Given the description of an element on the screen output the (x, y) to click on. 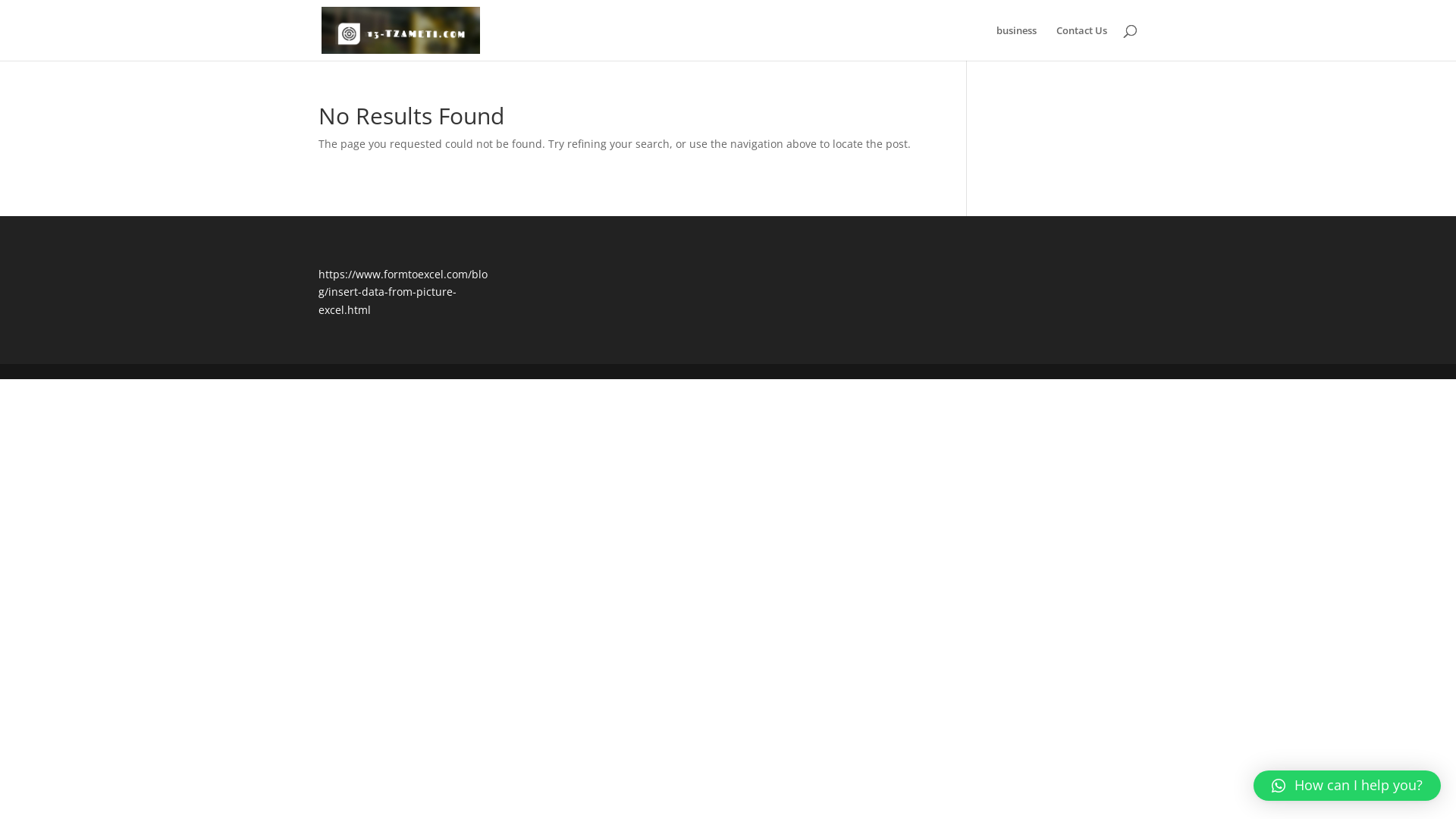
business Element type: text (1016, 42)
How can I help you? Element type: text (1346, 785)
Contact Us Element type: text (1081, 42)
